Given the description of an element on the screen output the (x, y) to click on. 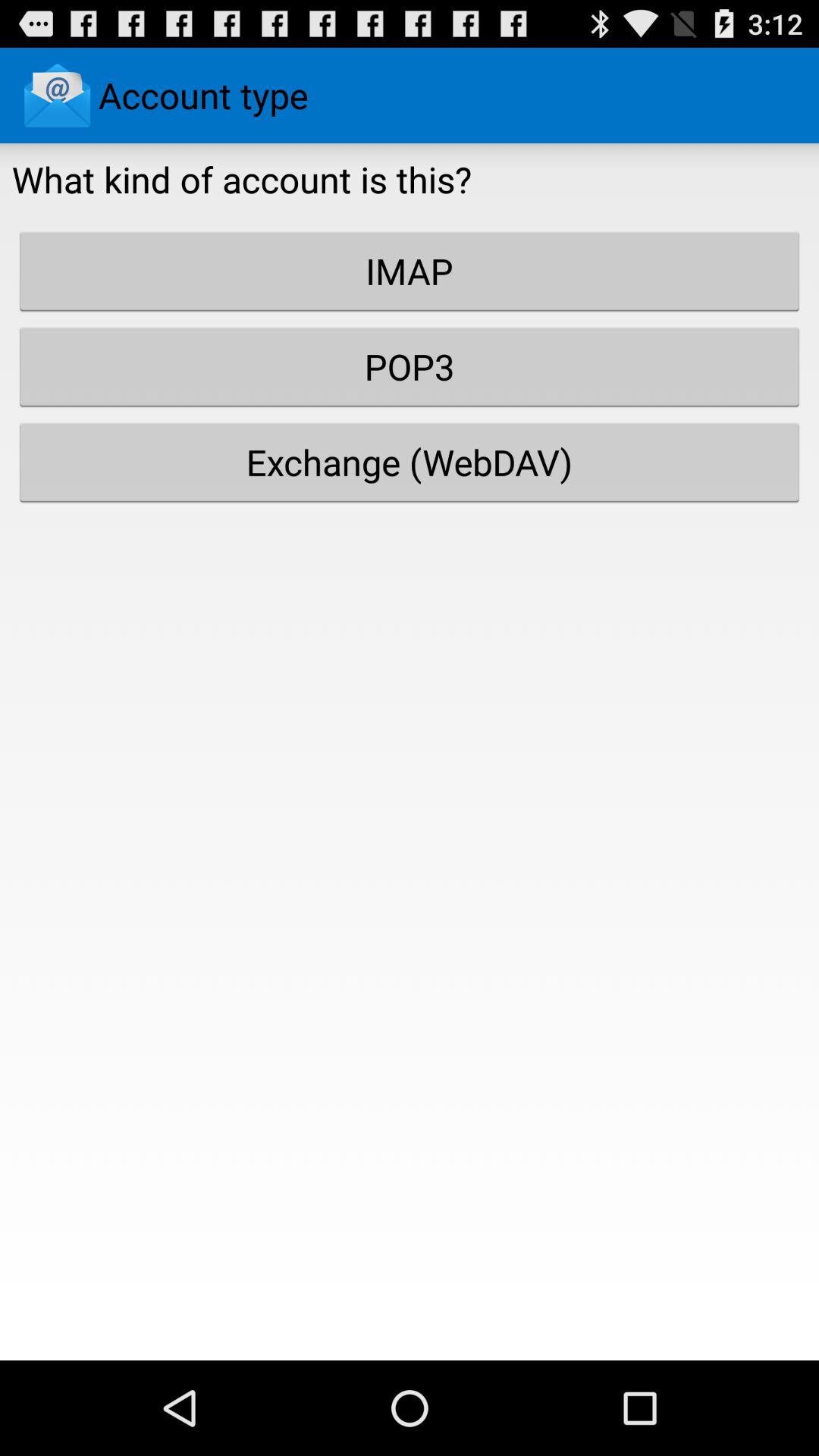
launch icon below the what kind of item (409, 271)
